Given the description of an element on the screen output the (x, y) to click on. 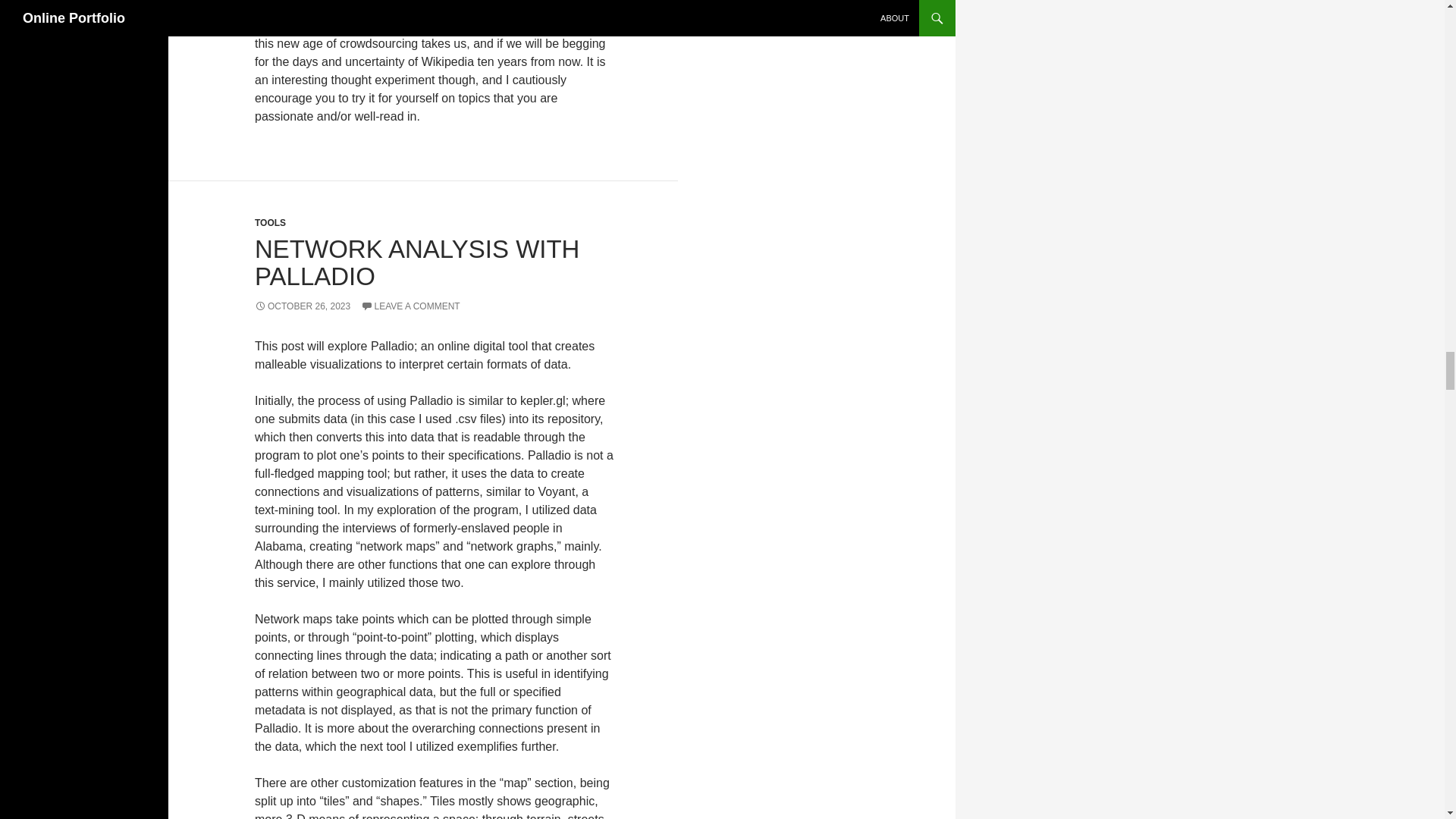
LEAVE A COMMENT (410, 306)
NETWORK ANALYSIS WITH PALLADIO (416, 262)
OCTOBER 26, 2023 (302, 306)
TOOLS (269, 222)
